Given the description of an element on the screen output the (x, y) to click on. 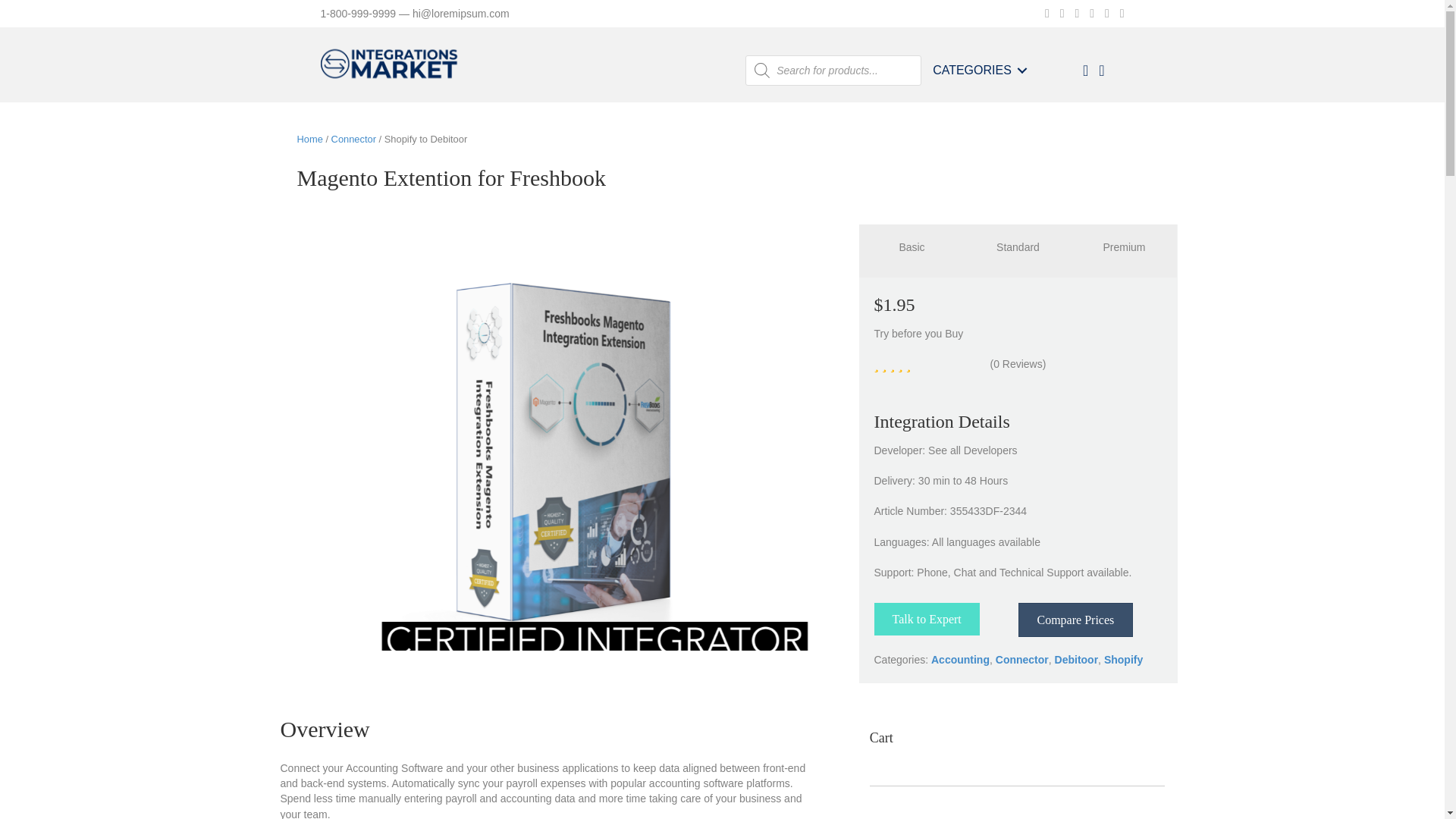
Compare Prices (1074, 619)
Shopify (1122, 659)
Debitoor (1076, 659)
CATEGORIES (976, 70)
Logo - Integrations Market (395, 70)
Connector (1021, 659)
Home (310, 138)
Talk to Expert (925, 618)
Accounting (960, 659)
Connector (353, 138)
